Given the description of an element on the screen output the (x, y) to click on. 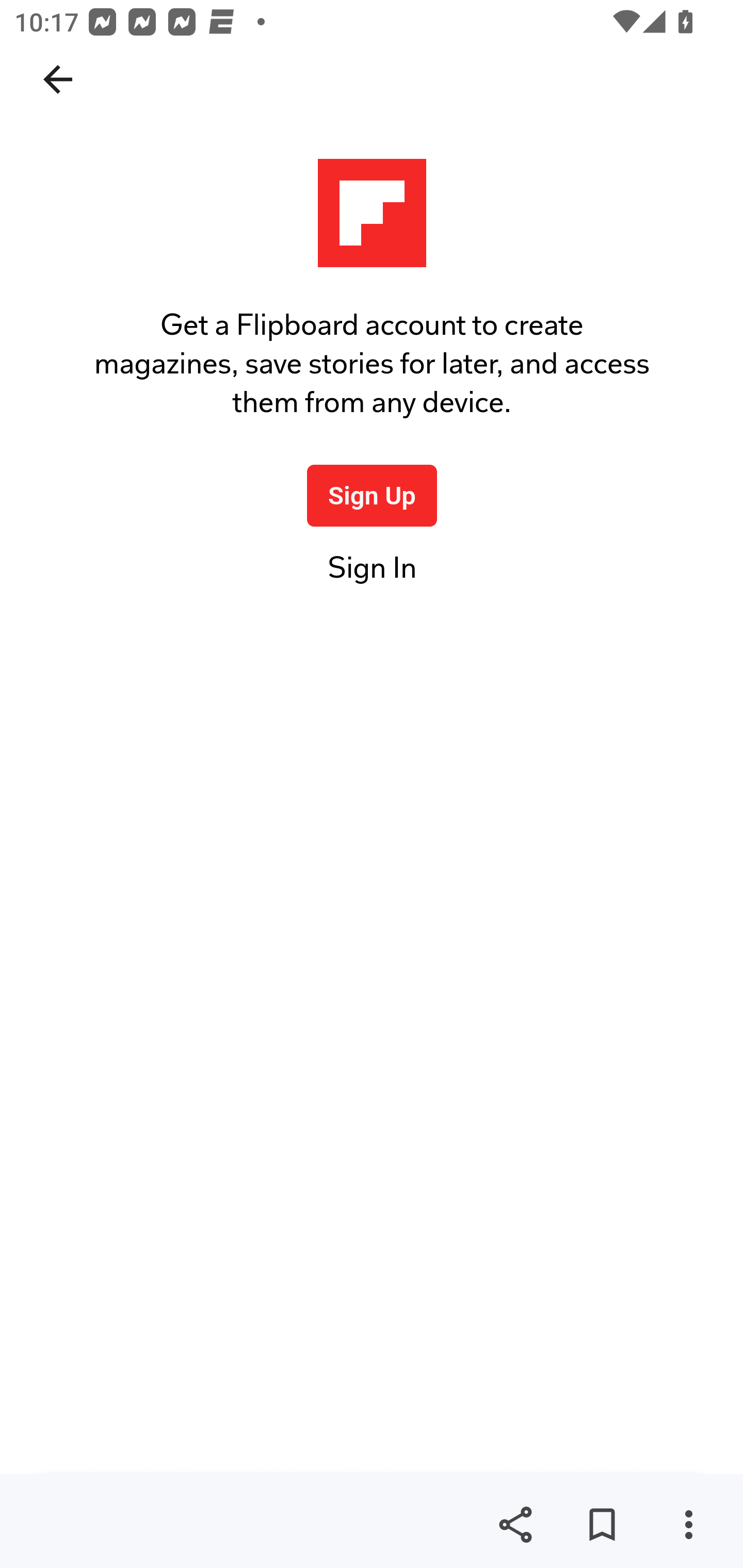
Navigate up (57, 79)
Sign Up (372, 495)
Sign In (371, 578)
Share (514, 1524)
Save for later (601, 1524)
More options (688, 1524)
